Given the description of an element on the screen output the (x, y) to click on. 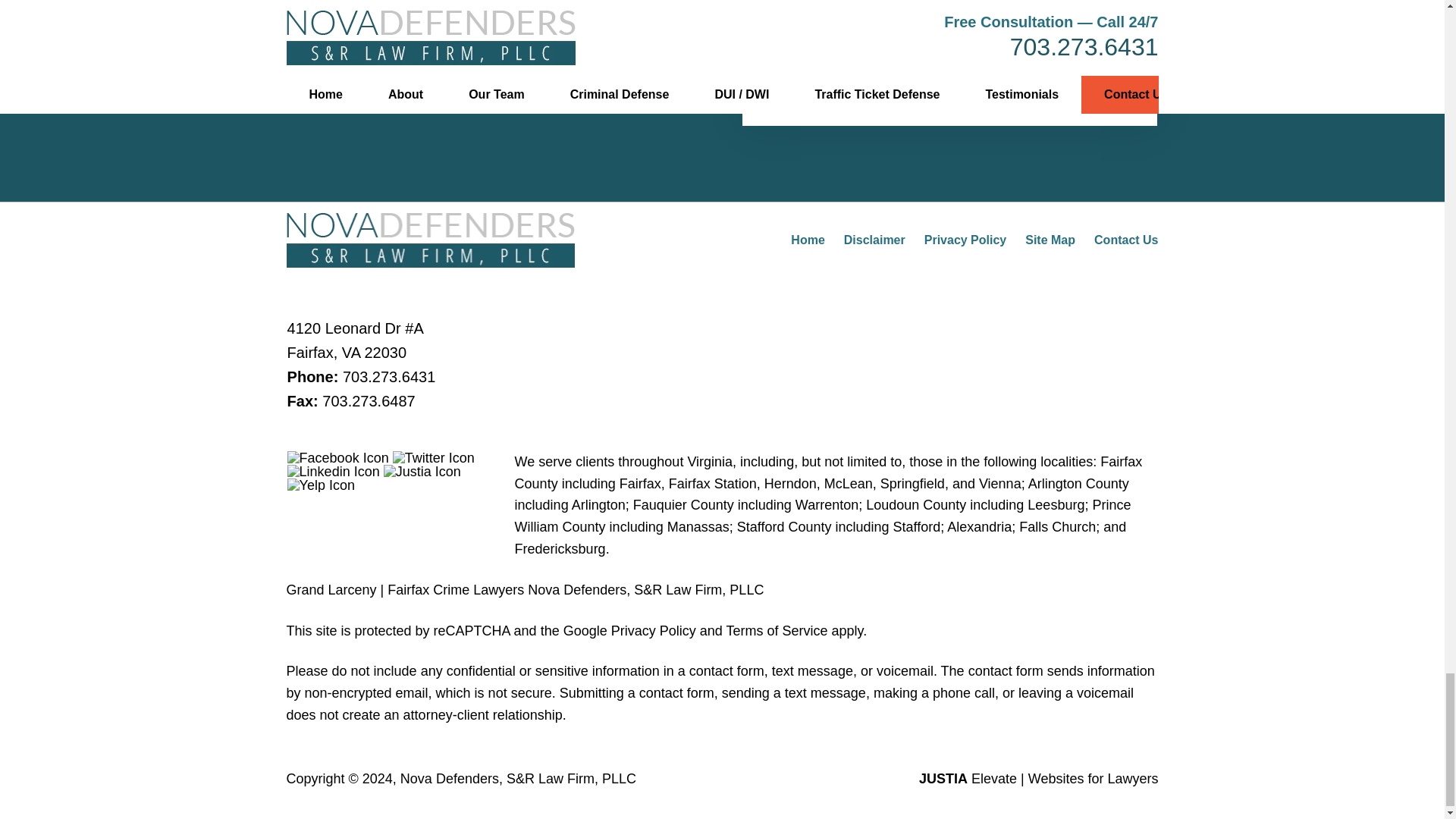
Yelp (320, 485)
Facebook (337, 458)
Justia (422, 471)
Linkedin (333, 471)
Twitter (433, 458)
